Given the description of an element on the screen output the (x, y) to click on. 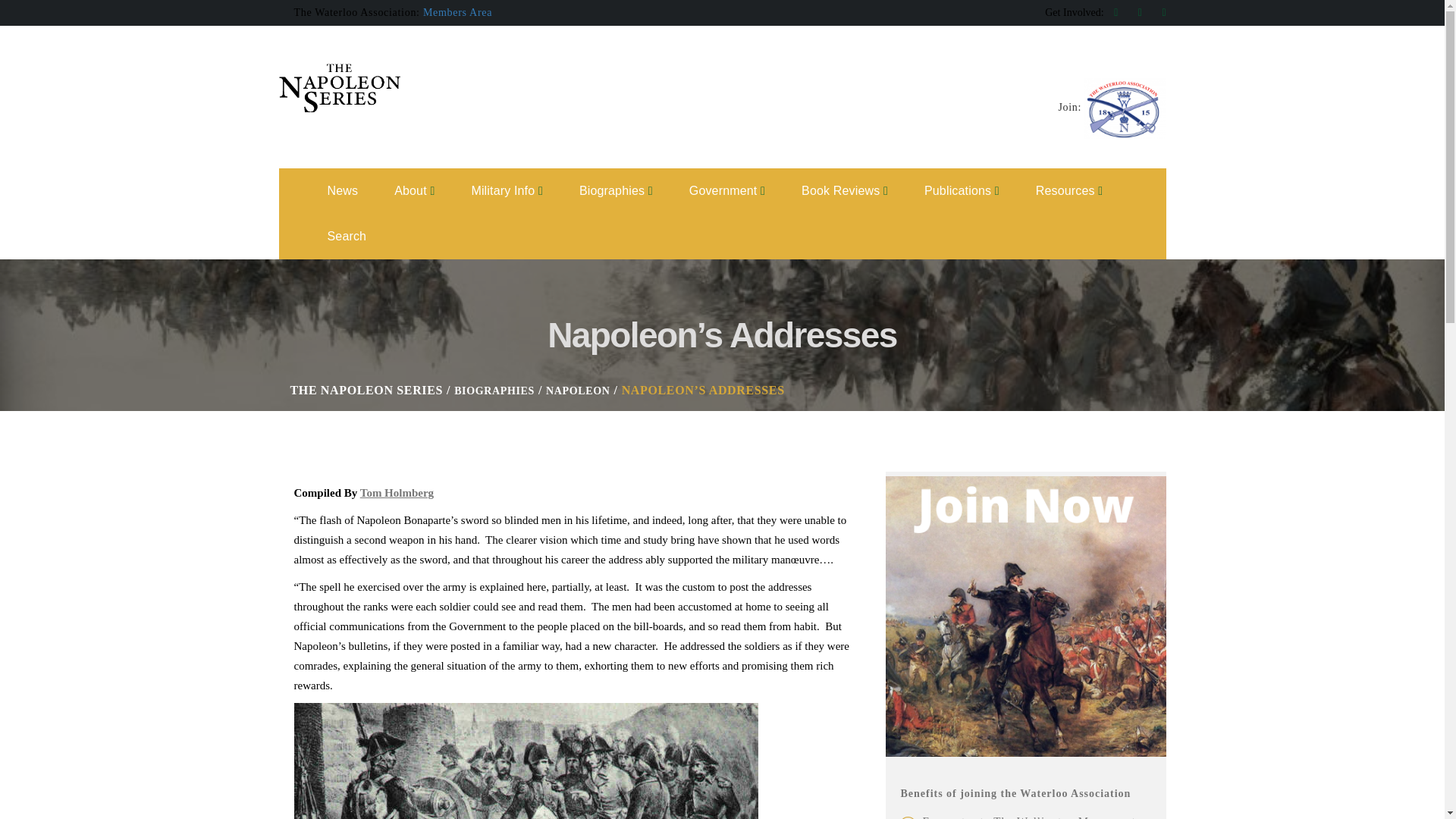
Book Reviews (845, 190)
Military Info (506, 190)
Military Info (506, 190)
Members Area (457, 12)
Biographies (615, 190)
Government (726, 190)
